Given the description of an element on the screen output the (x, y) to click on. 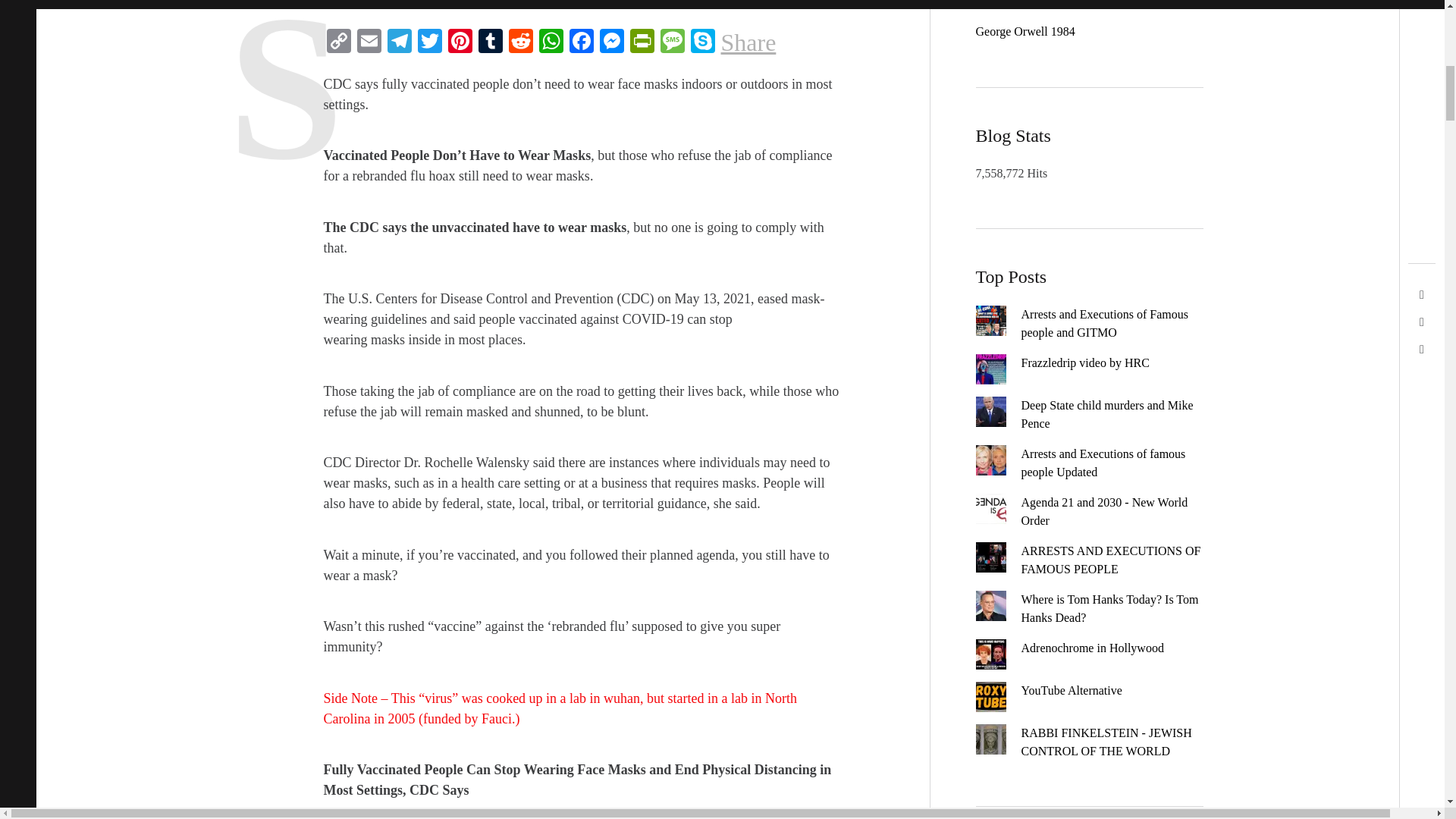
PrintFriendly (641, 42)
PrintFriendly (641, 42)
Twitter (428, 42)
Copy Link (338, 42)
Pinterest (459, 42)
WhatsApp (550, 42)
Telegram (398, 42)
Share (747, 42)
Copy Link (338, 42)
Message (671, 42)
WhatsApp (550, 42)
Skype (702, 42)
Tumblr (489, 42)
Email (368, 42)
Messenger (610, 42)
